Given the description of an element on the screen output the (x, y) to click on. 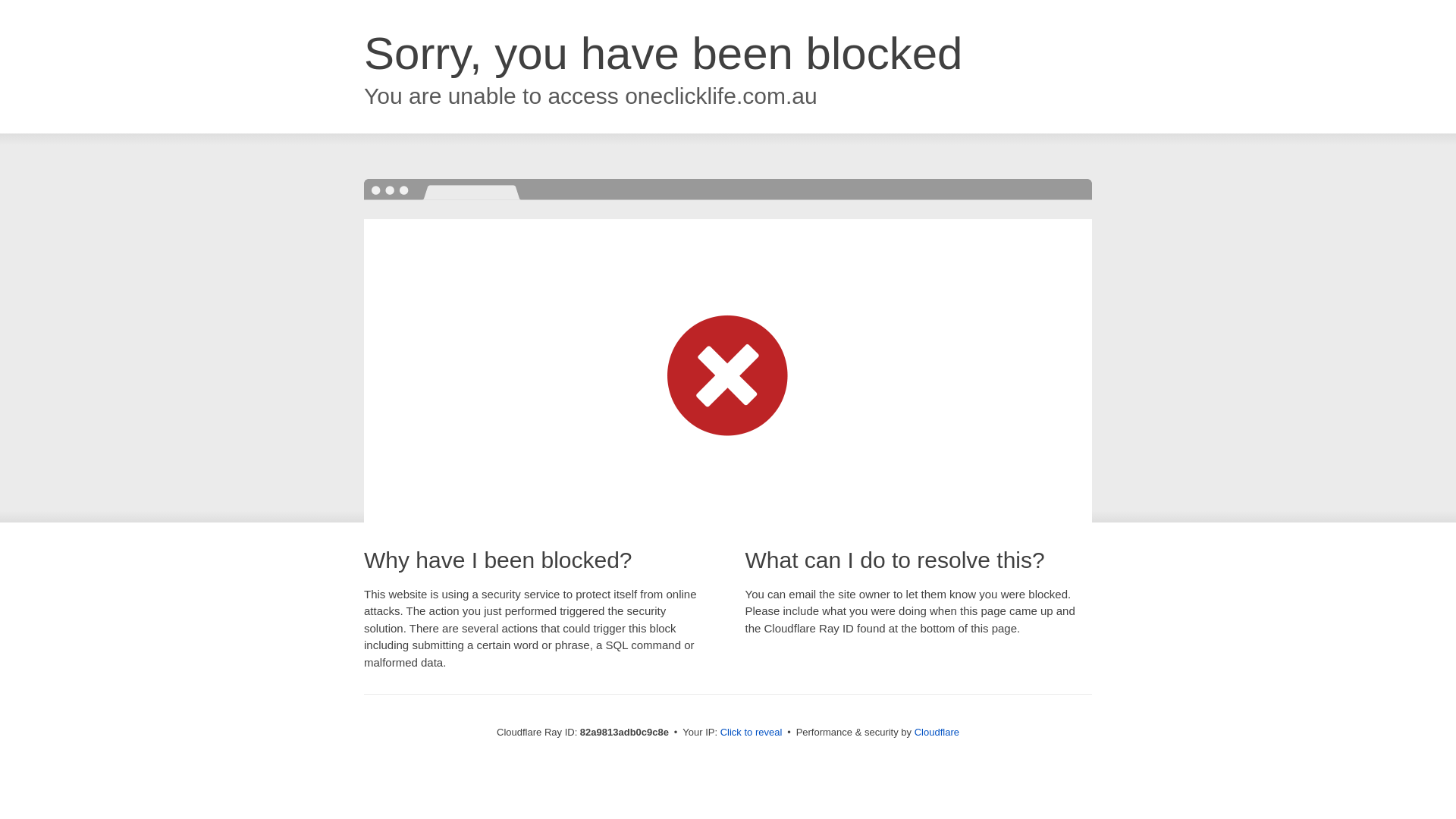
Click to reveal Element type: text (751, 732)
Cloudflare Element type: text (936, 731)
